Given the description of an element on the screen output the (x, y) to click on. 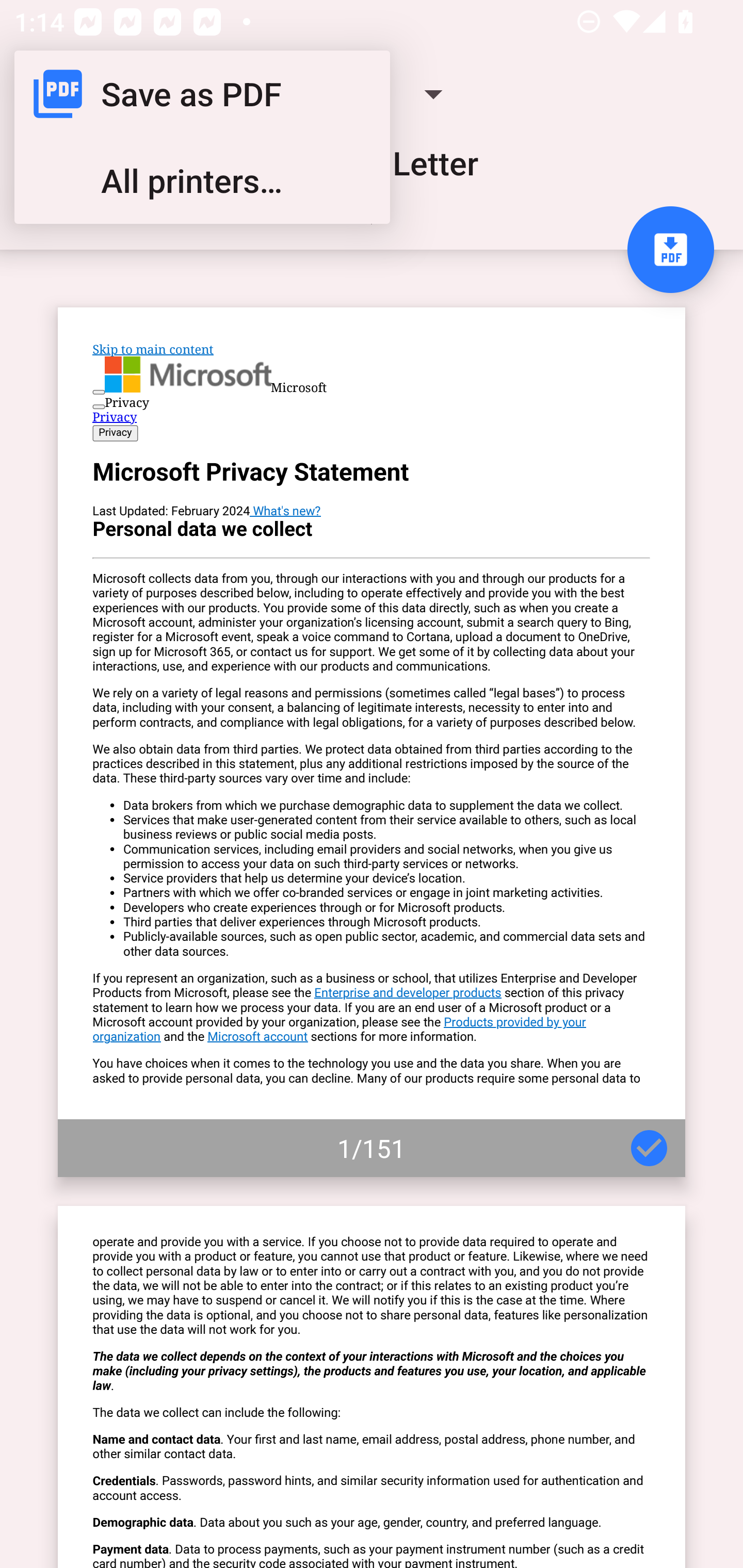
Save as PDF (202, 93)
All printers… (202, 180)
